Given the description of an element on the screen output the (x, y) to click on. 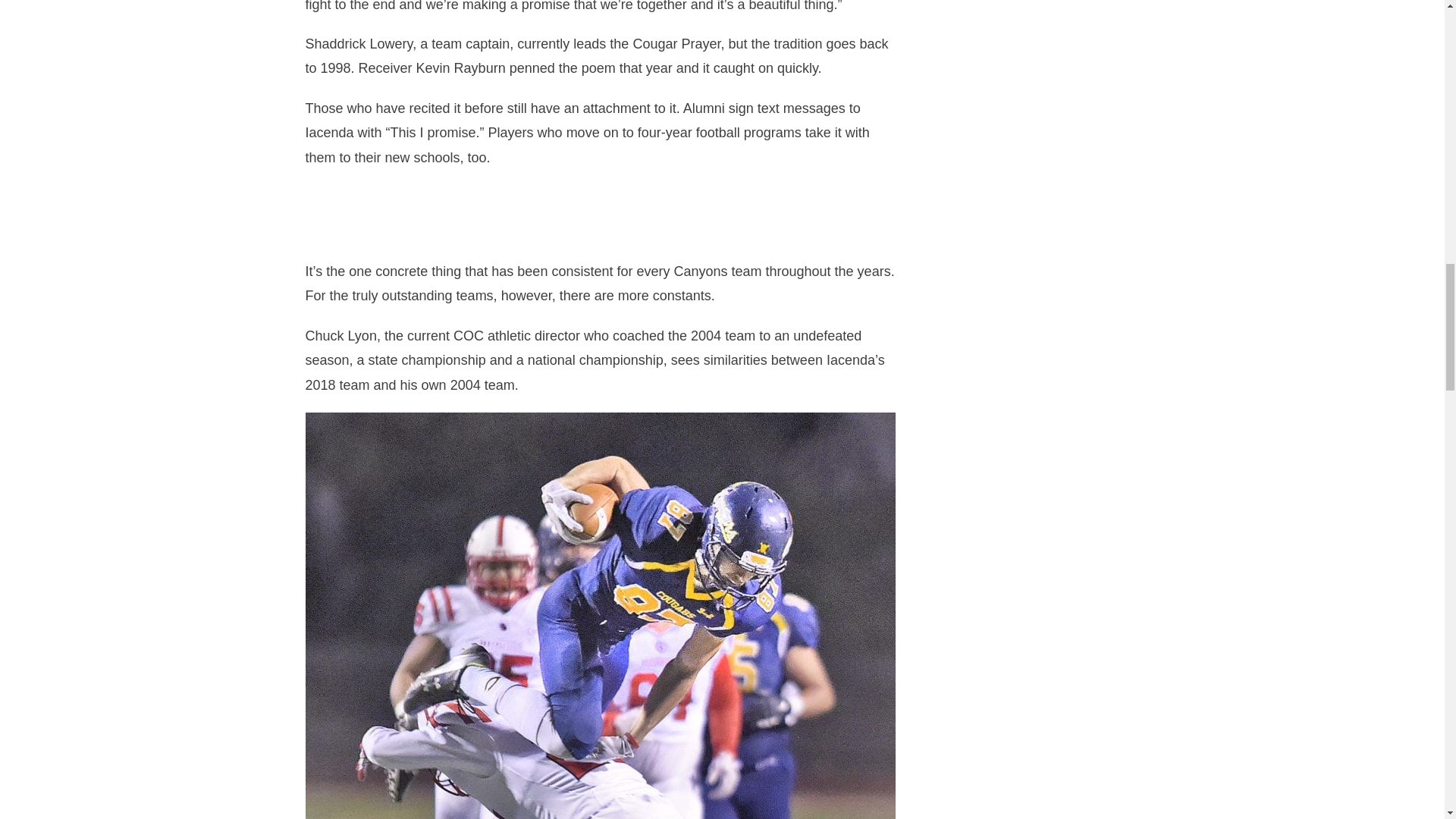
3rd party ad content (600, 219)
3rd party ad content (1031, 644)
3rd party ad content (1031, 62)
3rd party ad content (1031, 439)
3rd party ad content (1031, 235)
